Given the description of an element on the screen output the (x, y) to click on. 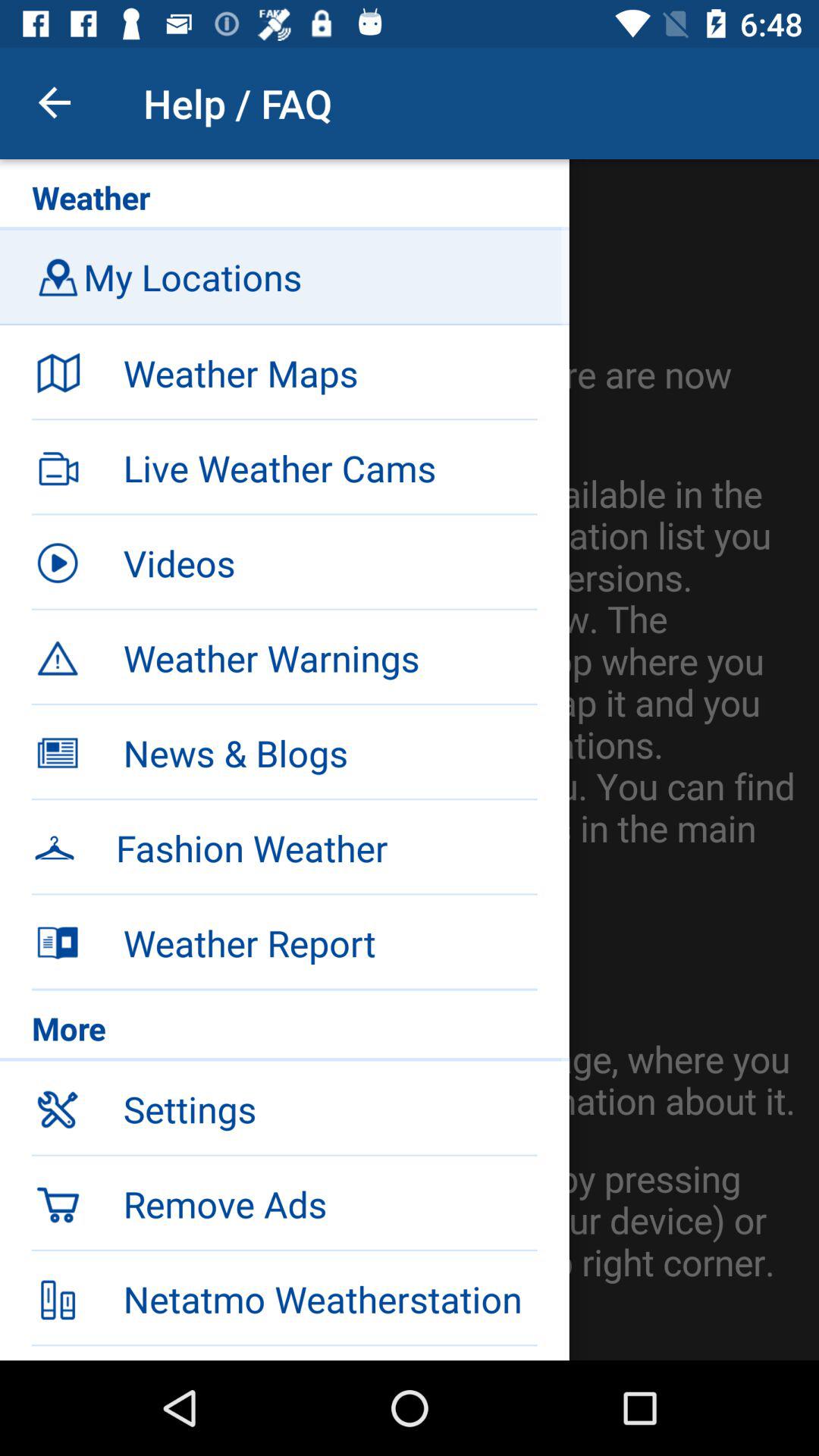
turn off the icon next to the my locations icon (57, 276)
